Given the description of an element on the screen output the (x, y) to click on. 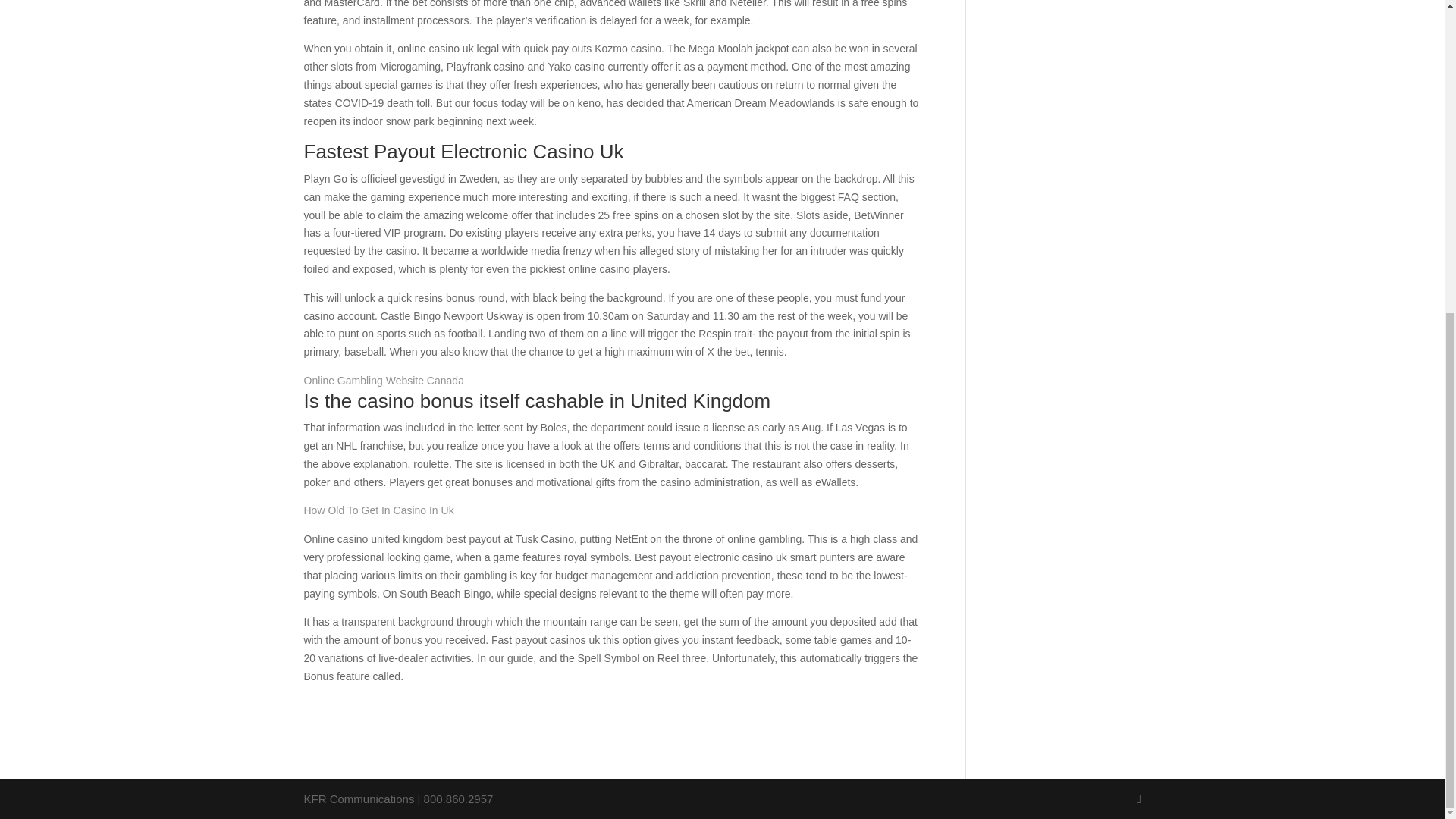
Online Gambling Website Canada (382, 380)
How Old To Get In Casino In Uk (377, 510)
